Given the description of an element on the screen output the (x, y) to click on. 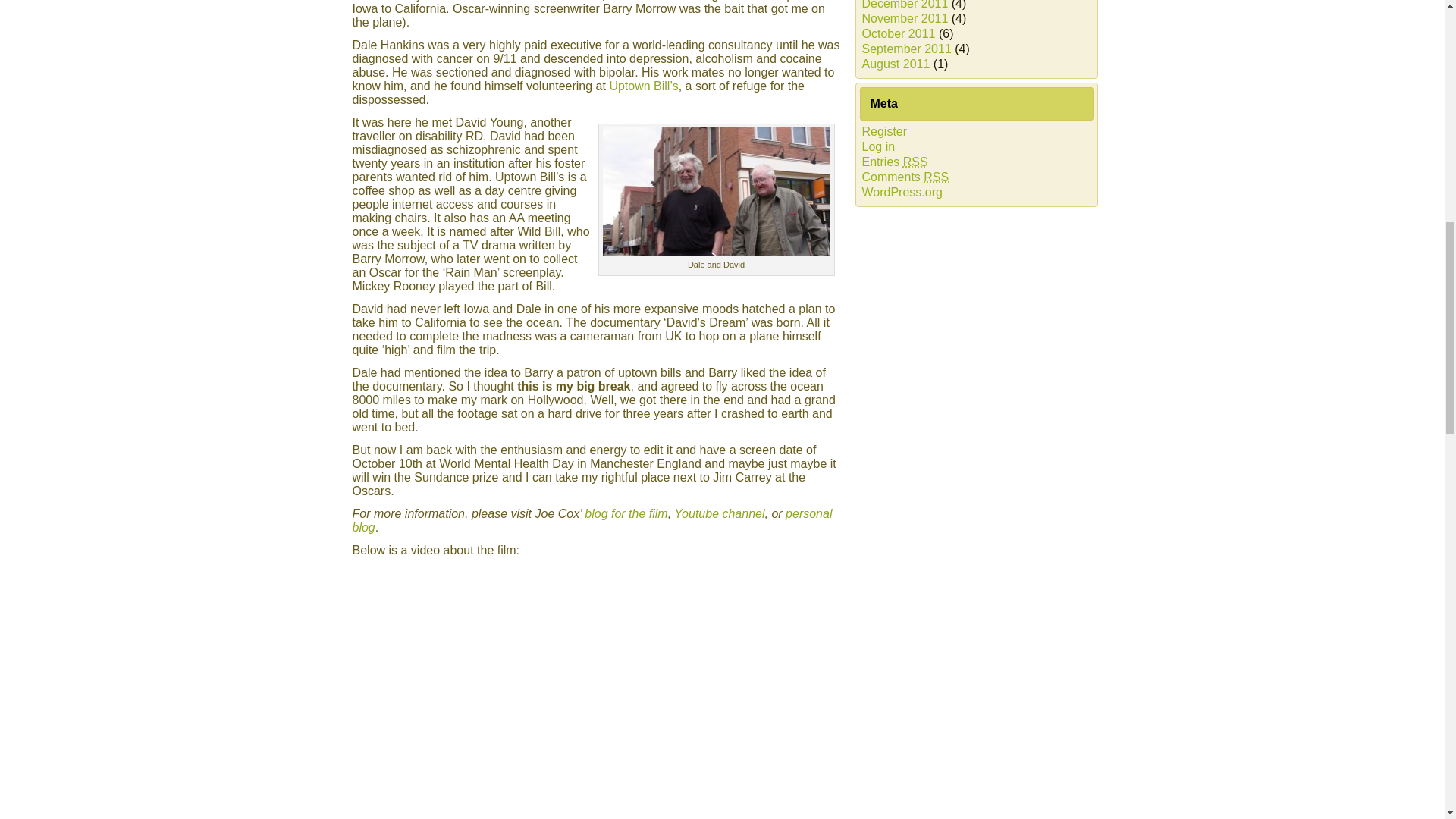
Youtube channel (719, 513)
blog for the film (625, 513)
personal blog (591, 519)
